Given the description of an element on the screen output the (x, y) to click on. 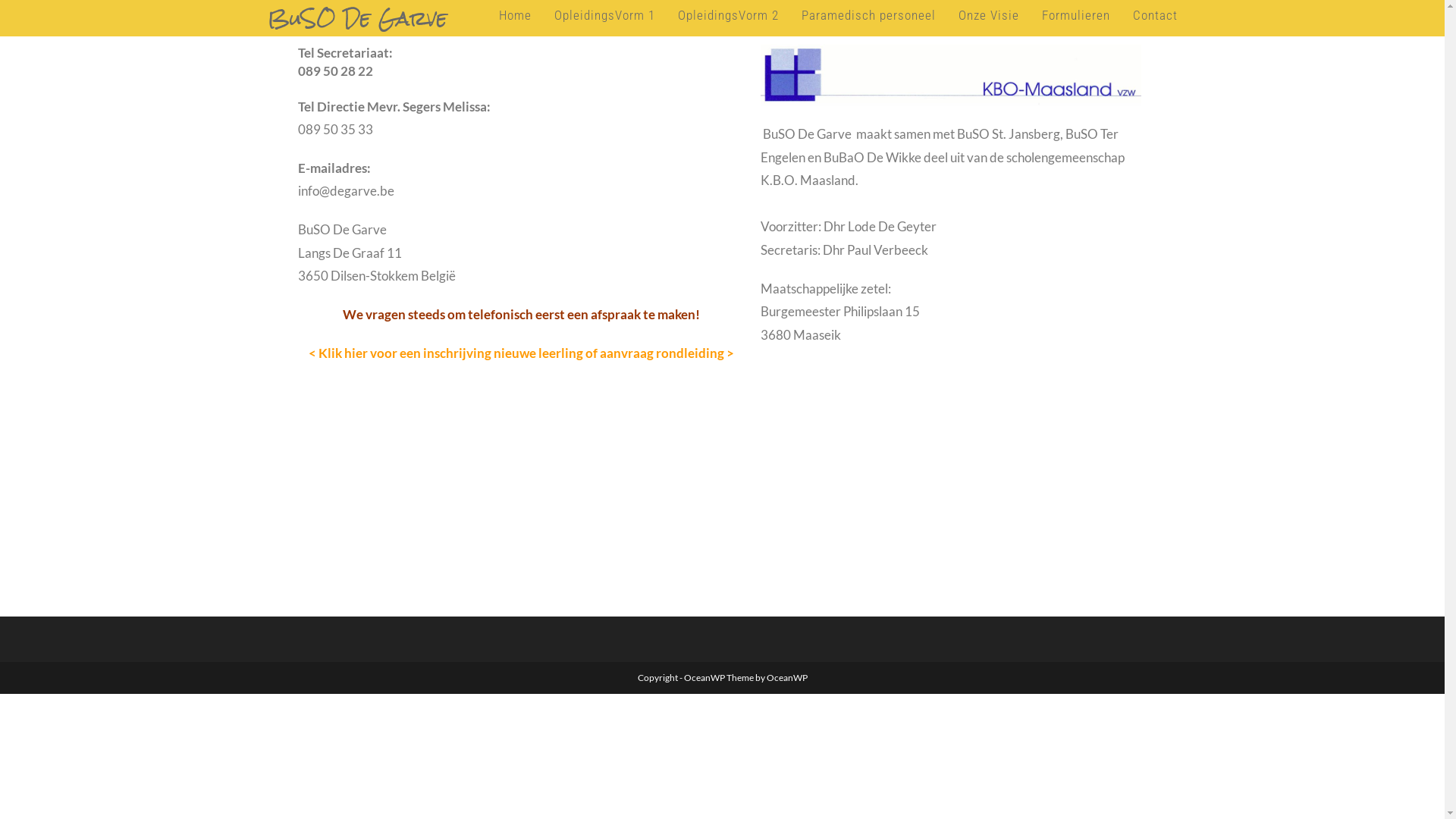
Onze Visie Element type: text (987, 15)
Formulieren Element type: text (1074, 15)
Home Element type: text (514, 15)
OpleidingsVorm 2 Element type: text (727, 15)
Paramedisch personeel Element type: text (868, 15)
Langs de graaf 11, dilsen-stokkem Element type: hover (721, 502)
Contact Element type: text (1154, 15)
OpleidingsVorm 1 Element type: text (604, 15)
